Given the description of an element on the screen output the (x, y) to click on. 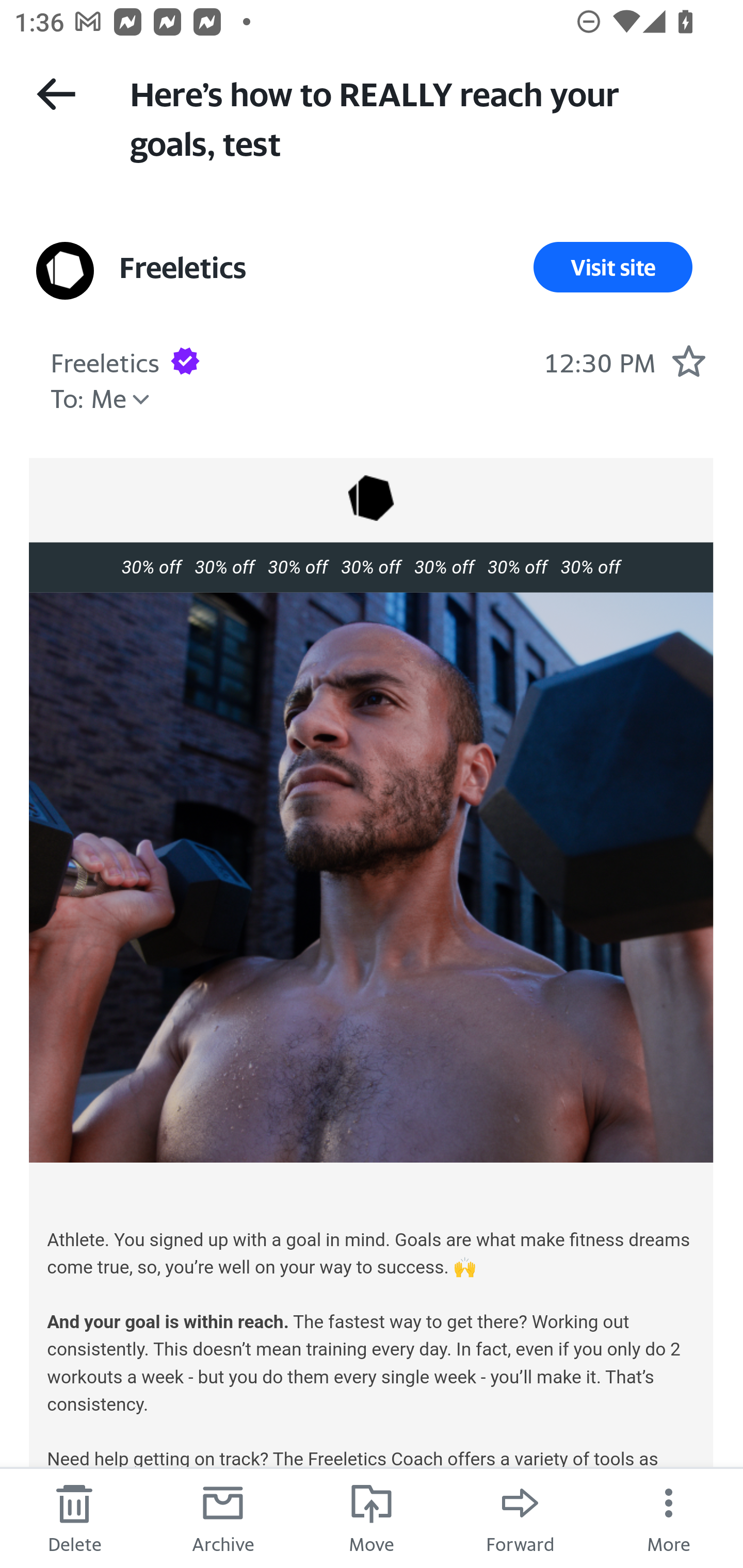
Back (55, 93)
Here’s how to REALLY reach your goals, test (418, 116)
View all messages from sender (64, 270)
Visit site Visit Site Link (612, 267)
Freeletics Sender Freeletics (182, 266)
Freeletics Sender Freeletics (104, 360)
Mark as starred. (688, 361)
Delete (74, 1517)
Archive (222, 1517)
Move (371, 1517)
Forward (519, 1517)
More (668, 1517)
